Given the description of an element on the screen output the (x, y) to click on. 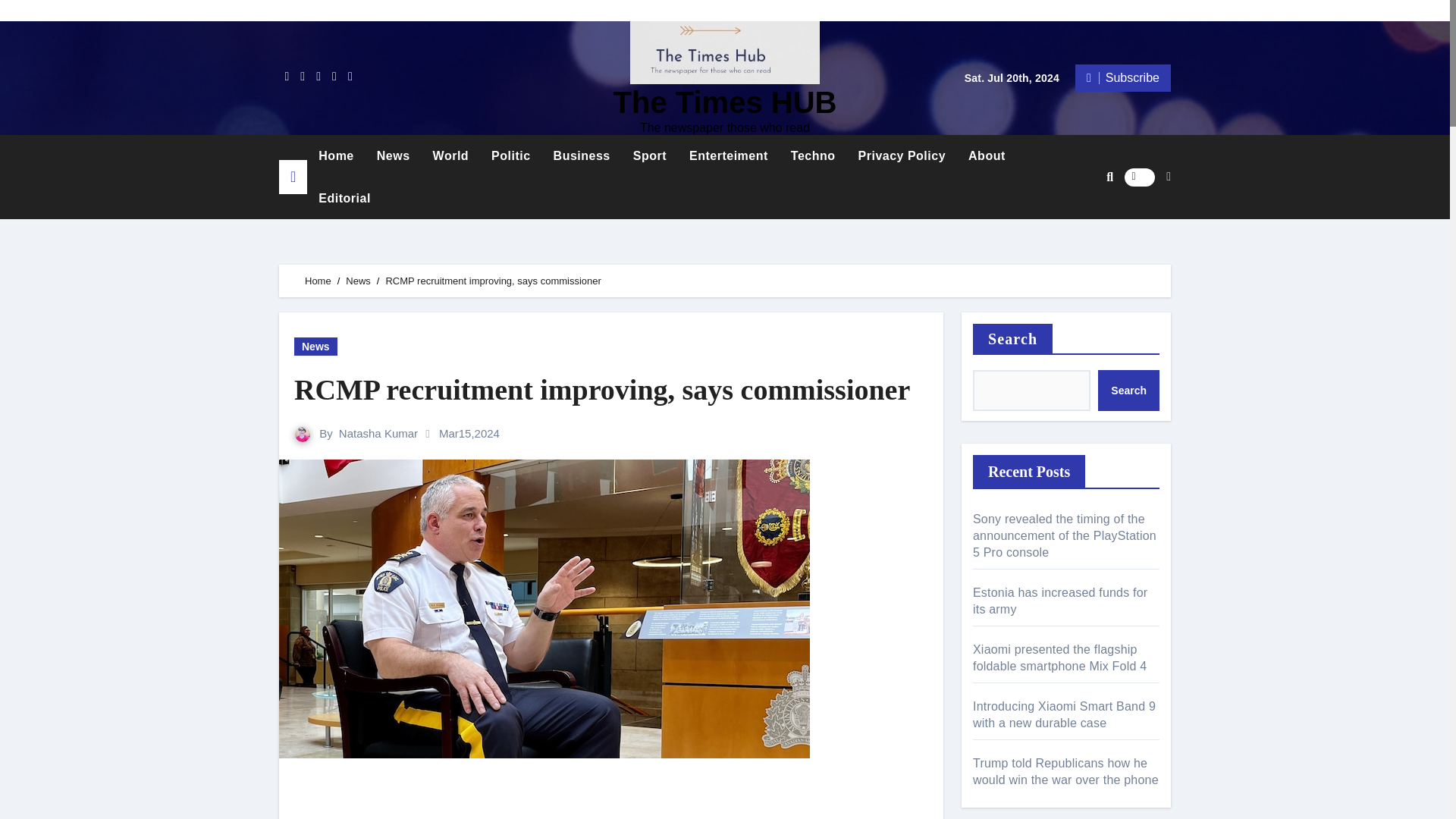
Sport (649, 155)
News (393, 155)
Home (336, 155)
Business (581, 155)
Privacy Policy (902, 155)
News (358, 280)
World (451, 155)
Enterteiment (728, 155)
Techno (812, 155)
World (451, 155)
News (393, 155)
Natasha Kumar (378, 432)
Privacy Policy (902, 155)
Enterteiment (728, 155)
Politic (510, 155)
